Given the description of an element on the screen output the (x, y) to click on. 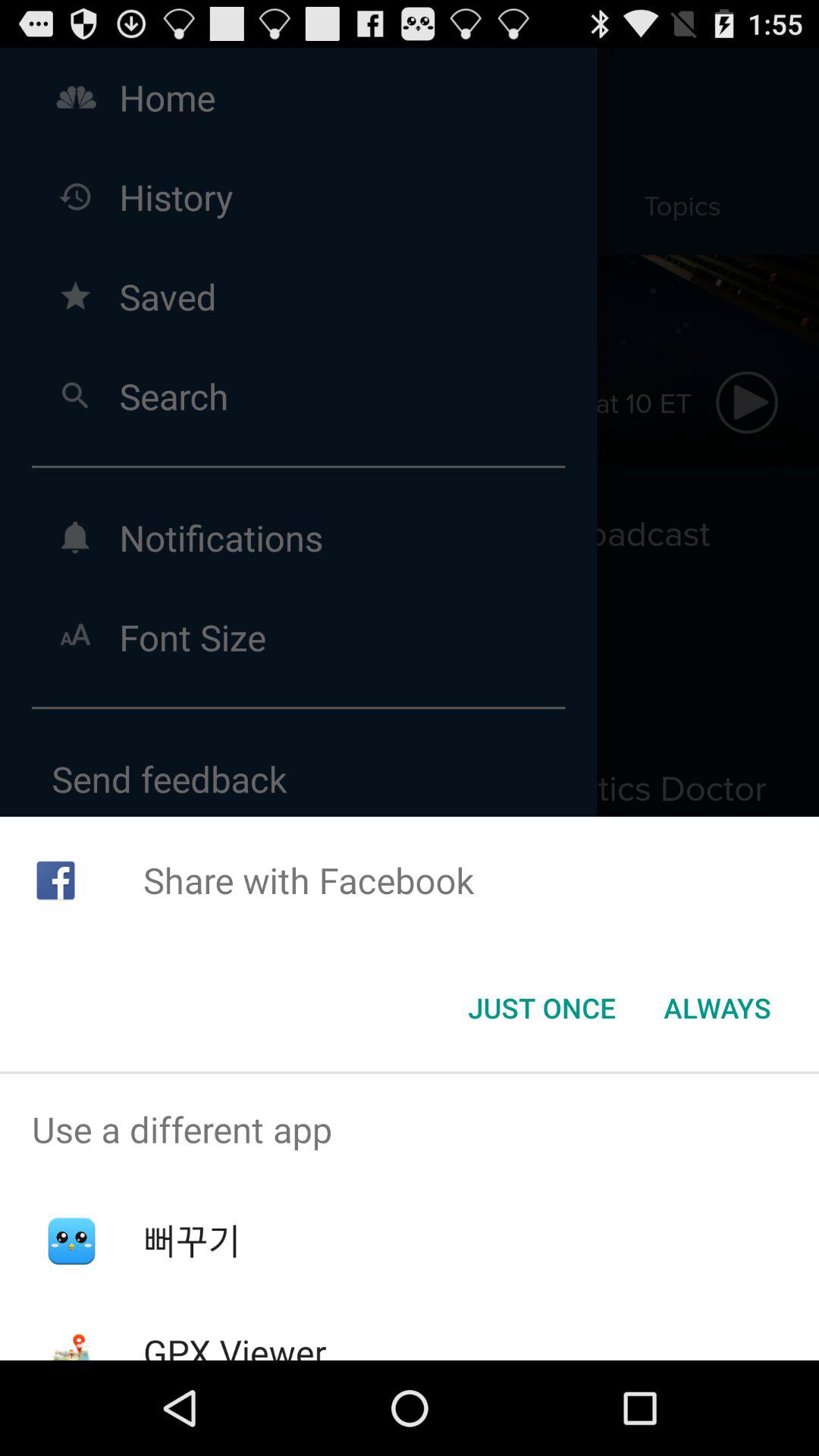
choose item below use a different app (191, 1240)
